Given the description of an element on the screen output the (x, y) to click on. 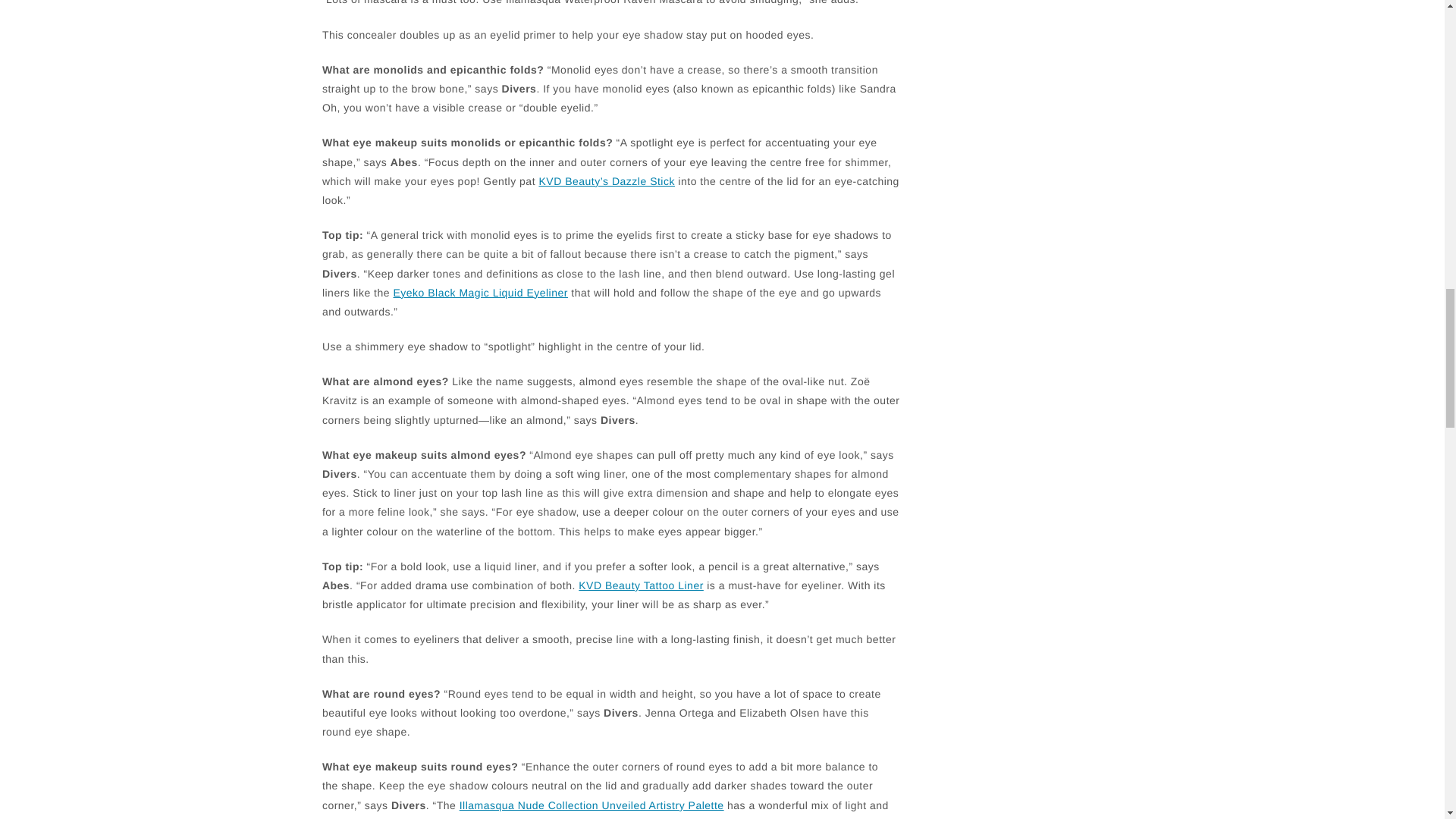
Illamasqua Nude Collection Unveiled Artistry Palette (591, 805)
Eyeko Black Magic Liquid Eyeliner (480, 292)
KVD Beauty Tattoo Liner (640, 585)
